Given the description of an element on the screen output the (x, y) to click on. 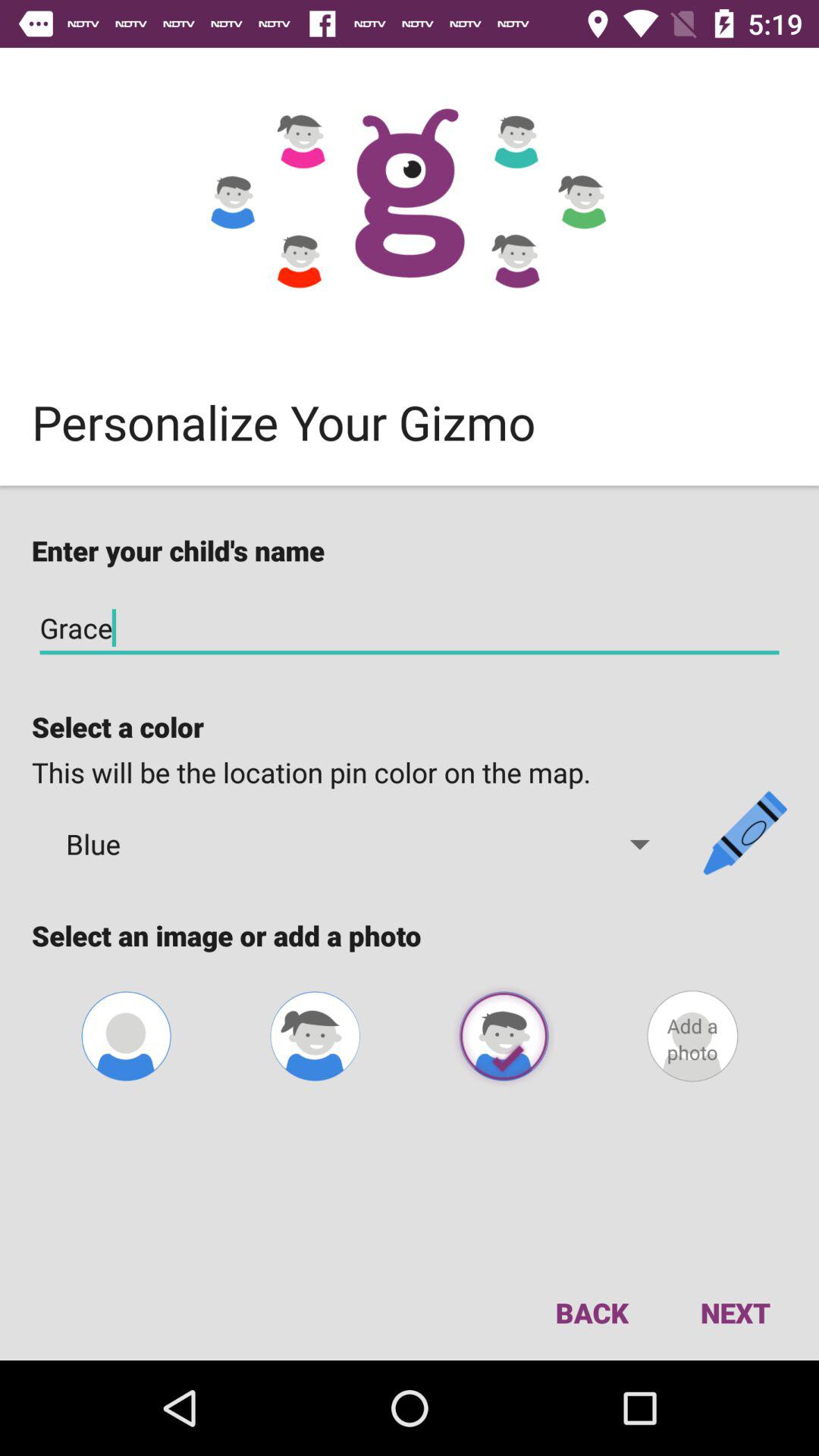
add image (126, 1036)
